Given the description of an element on the screen output the (x, y) to click on. 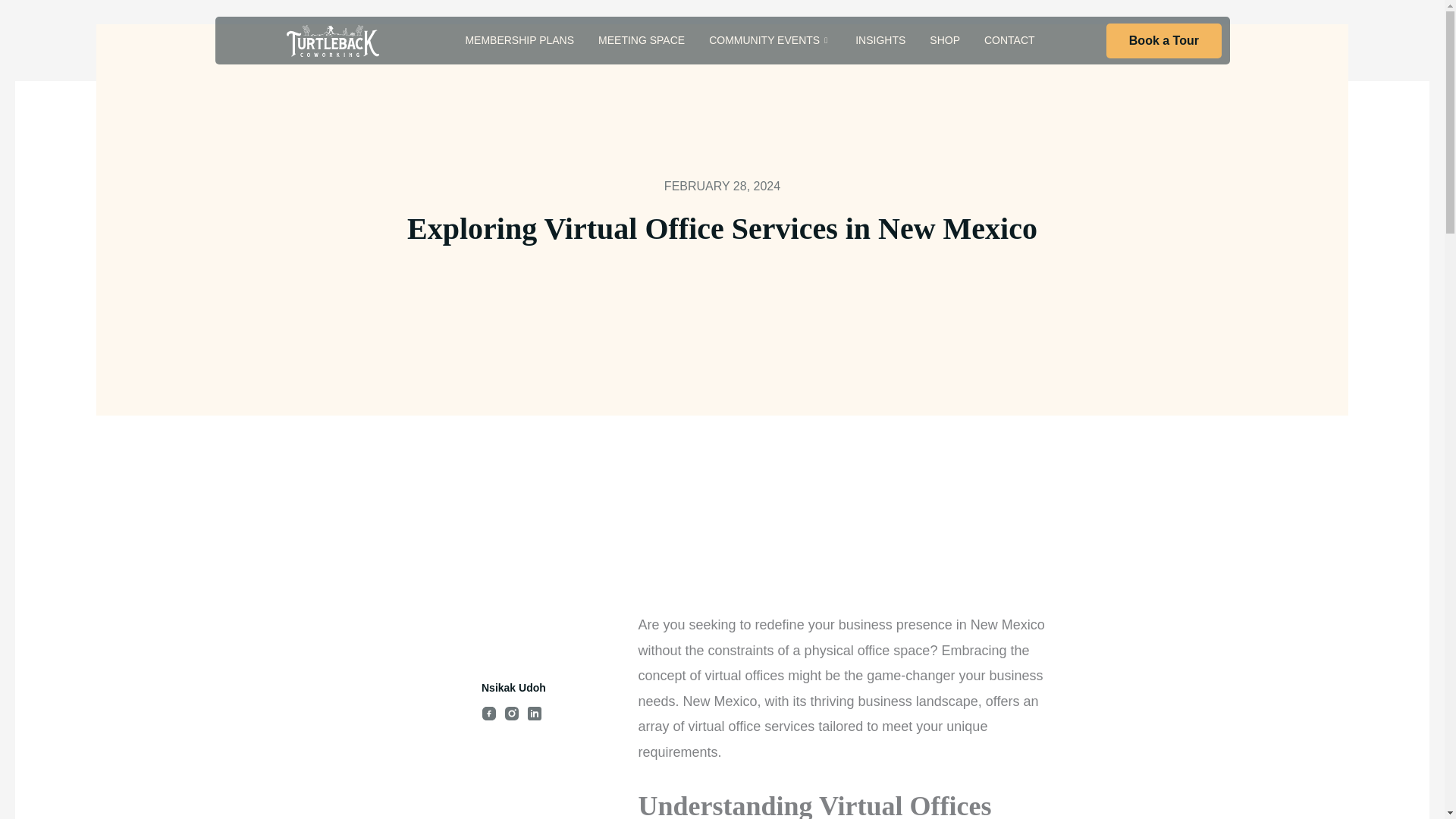
SHOP (944, 40)
Book a Tour (1163, 40)
CONTACT (1009, 40)
MEETING SPACE (641, 40)
MEMBERSHIP PLANS (519, 40)
COMMUNITY EVENTS (770, 40)
INSIGHTS (880, 40)
